Given the description of an element on the screen output the (x, y) to click on. 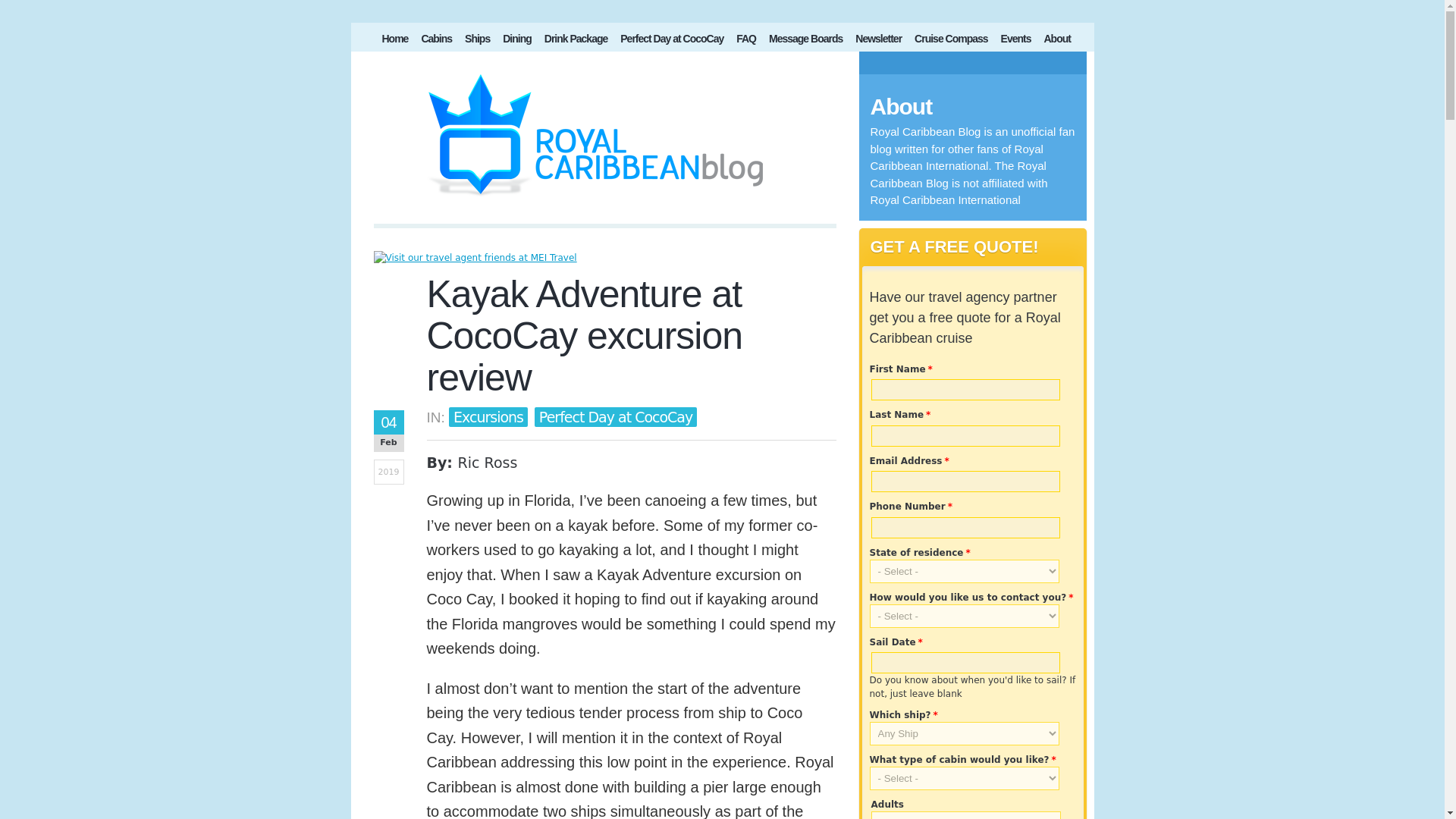
Message Boards (805, 40)
About (1056, 40)
FAQ (746, 40)
Cabins (436, 40)
Royal Caribbean ships (477, 40)
Answers for your Royal Caribbean cruise (746, 40)
Home (395, 40)
Ships (477, 40)
Royal Caribbean Dining (516, 40)
